Given the description of an element on the screen output the (x, y) to click on. 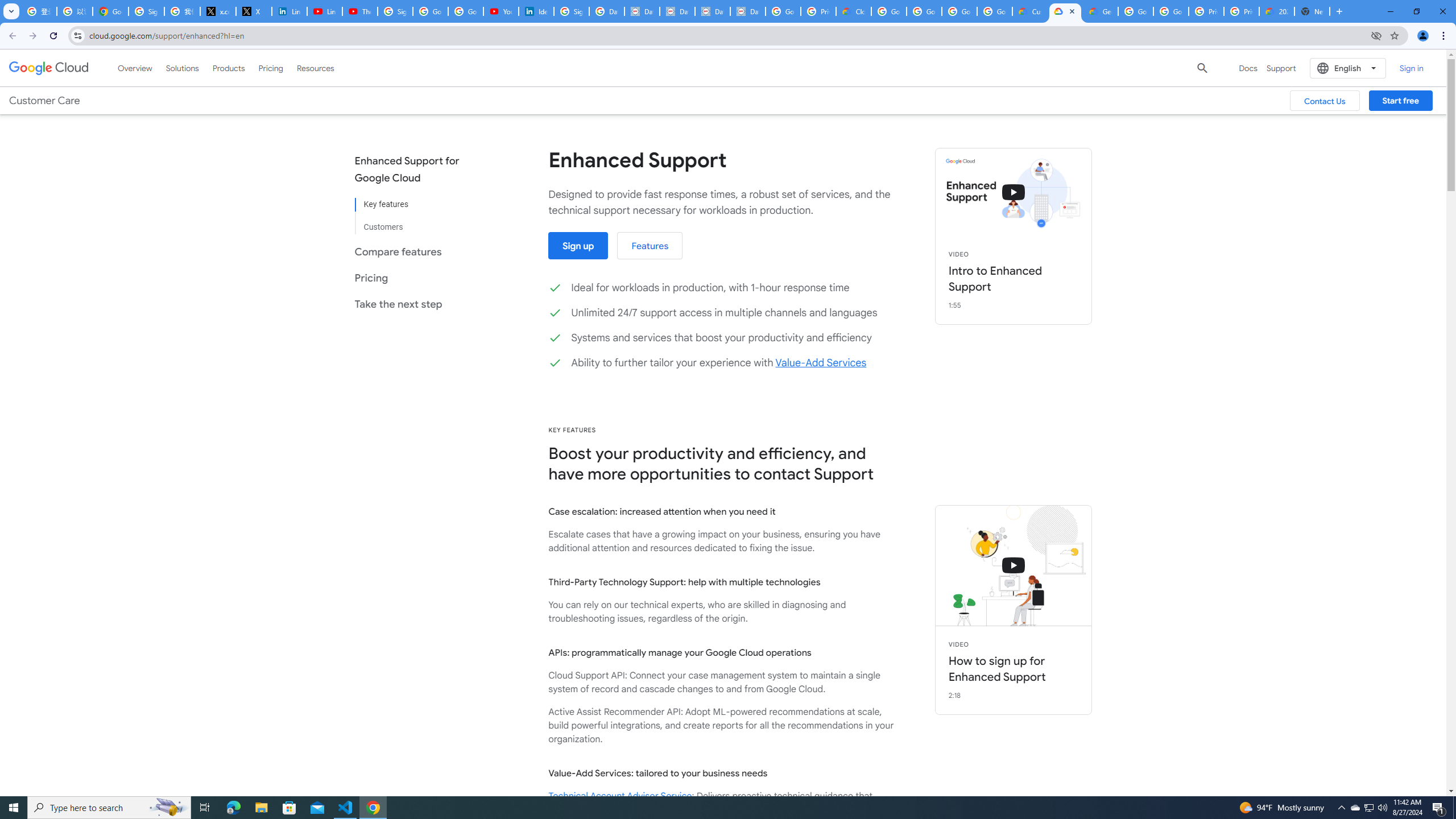
Value-Add Services (820, 362)
Support (1280, 67)
New Tab (1312, 11)
Google Workspace - Specific Terms (959, 11)
Data Privacy Framework (747, 11)
Products (228, 67)
Data Privacy Framework (641, 11)
LinkedIn - YouTube (324, 11)
Start free (1400, 100)
